Given the description of an element on the screen output the (x, y) to click on. 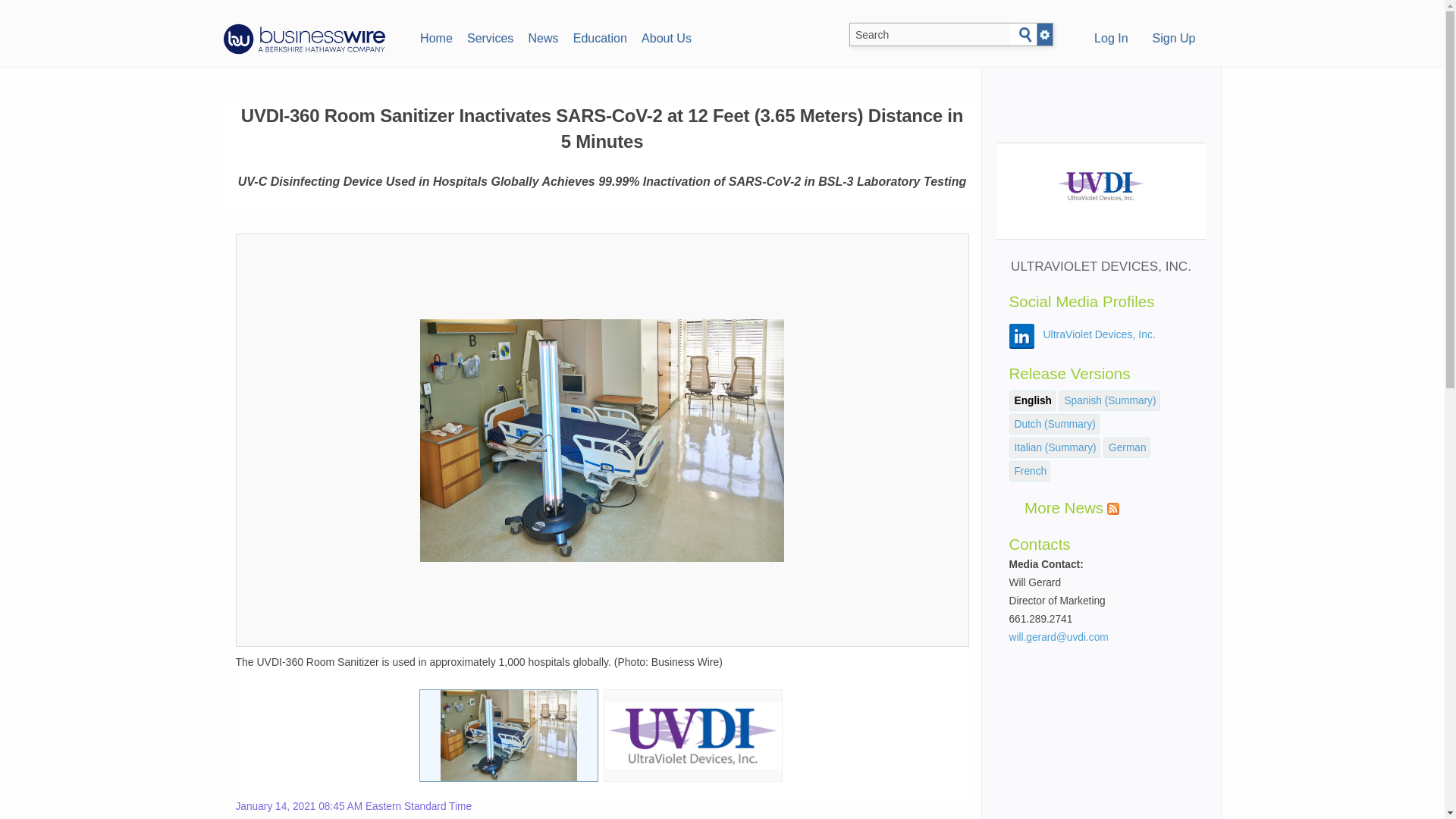
Services (490, 36)
Home (436, 36)
German (1127, 447)
French (1030, 471)
Education (599, 36)
Search BusinessWire.com (930, 34)
News (543, 36)
RSS feed for UltraViolet Devices, Inc. (1112, 508)
UltraViolet Devices, Inc. (1099, 334)
